Given the description of an element on the screen output the (x, y) to click on. 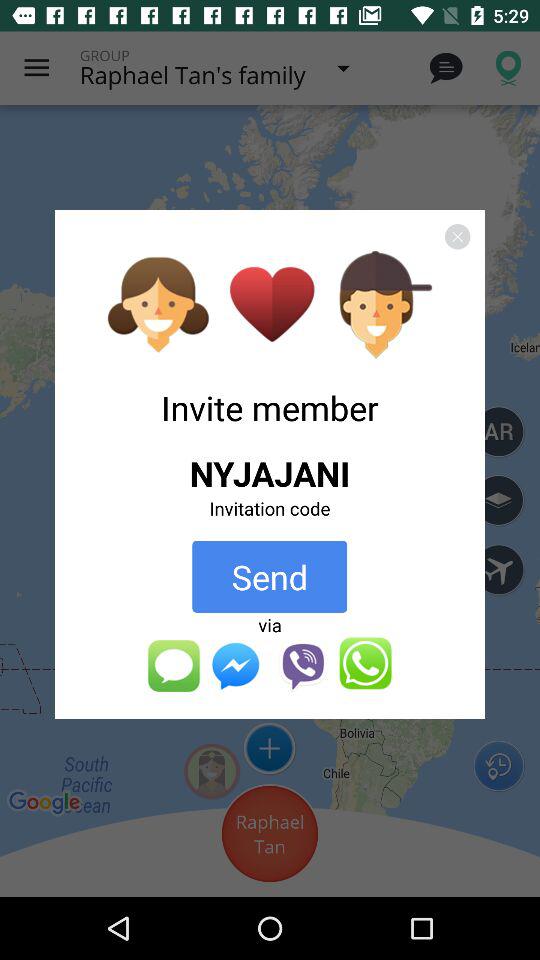
send invite options (269, 664)
